Given the description of an element on the screen output the (x, y) to click on. 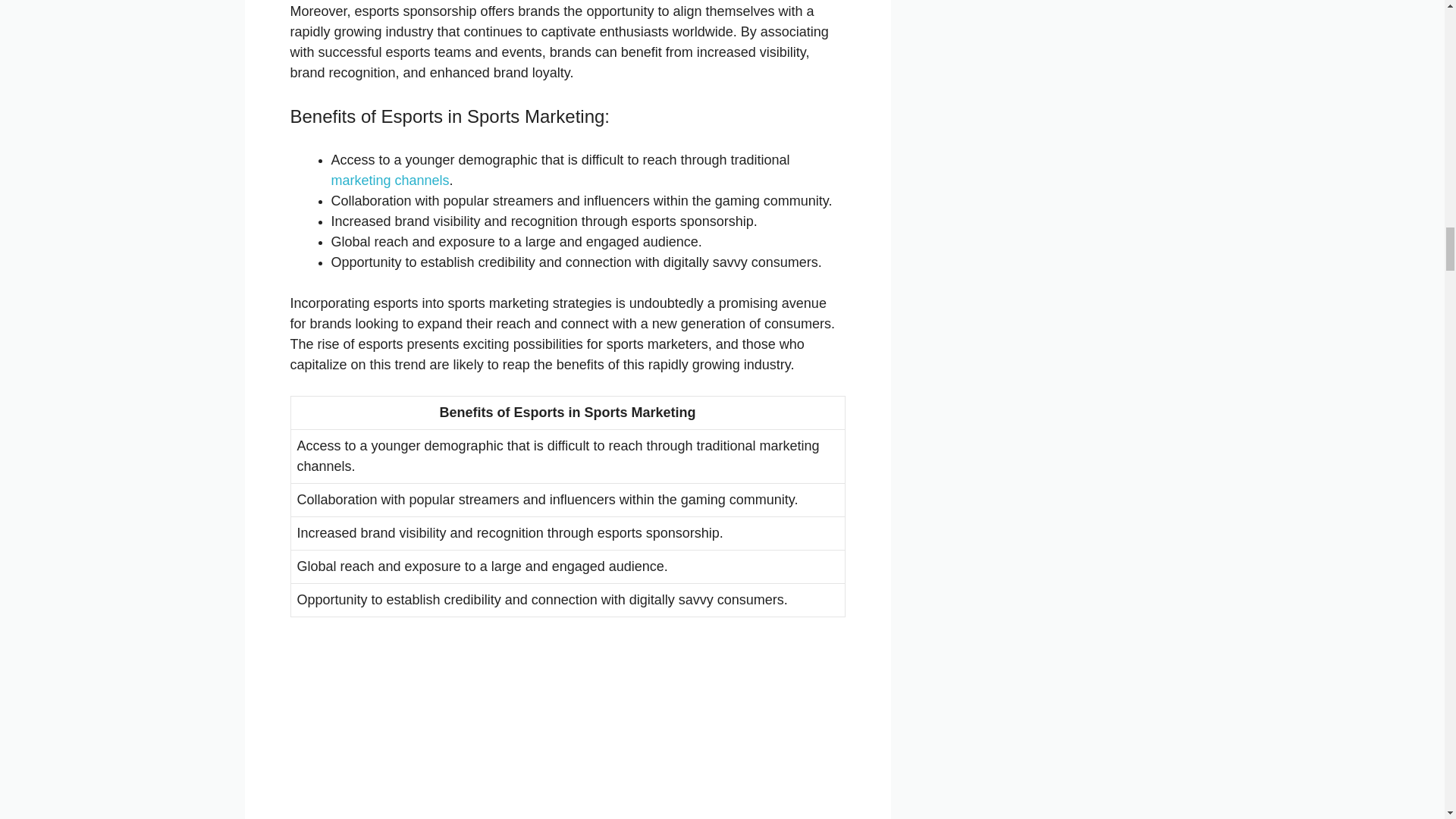
marketing channels (389, 180)
marketing channels (389, 180)
